Given the description of an element on the screen output the (x, y) to click on. 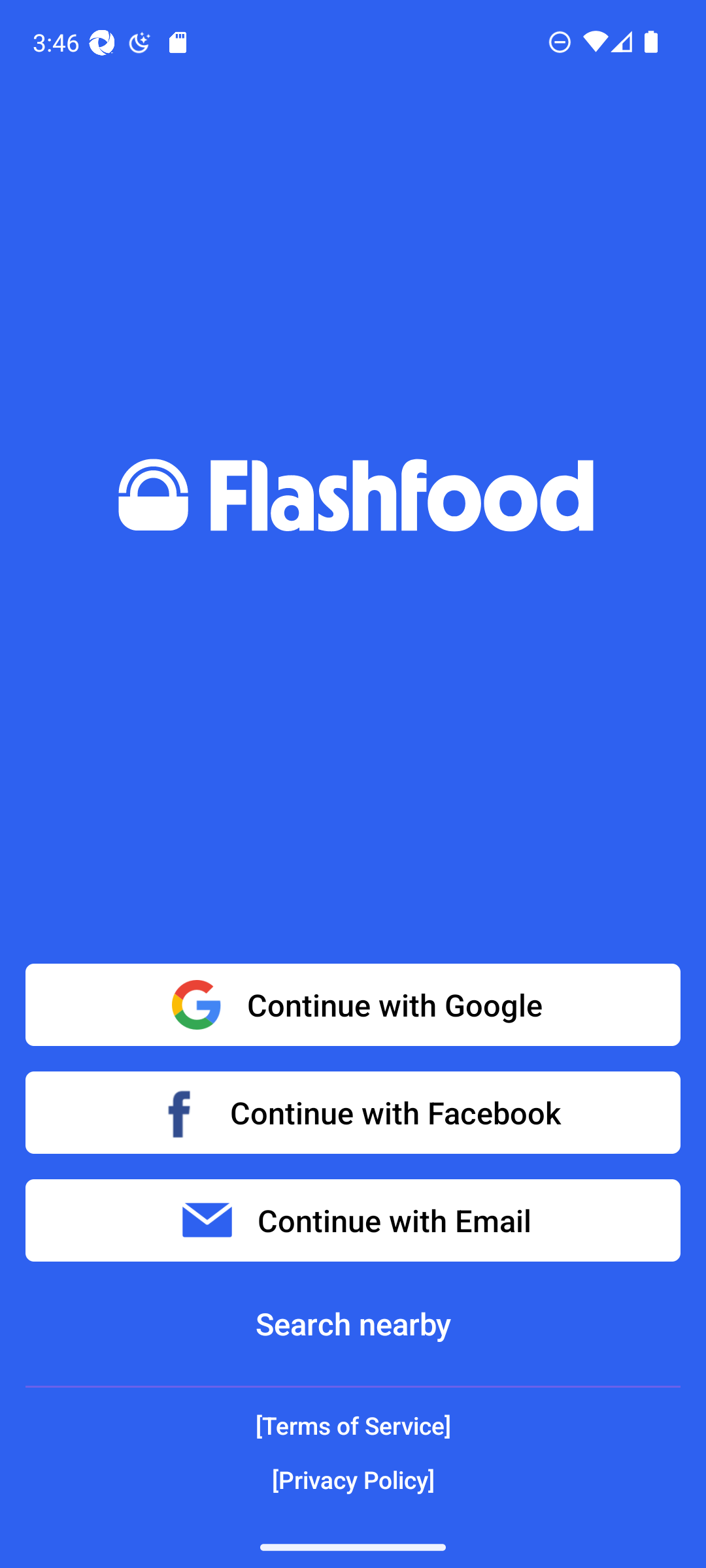
Continue with Google (352, 1004)
Continue with Facebook (352, 1112)
Continue with Email (352, 1220)
Search nearby (352, 1323)
[Terms of Service] (352, 1425)
[Privacy Policy] (352, 1478)
